Given the description of an element on the screen output the (x, y) to click on. 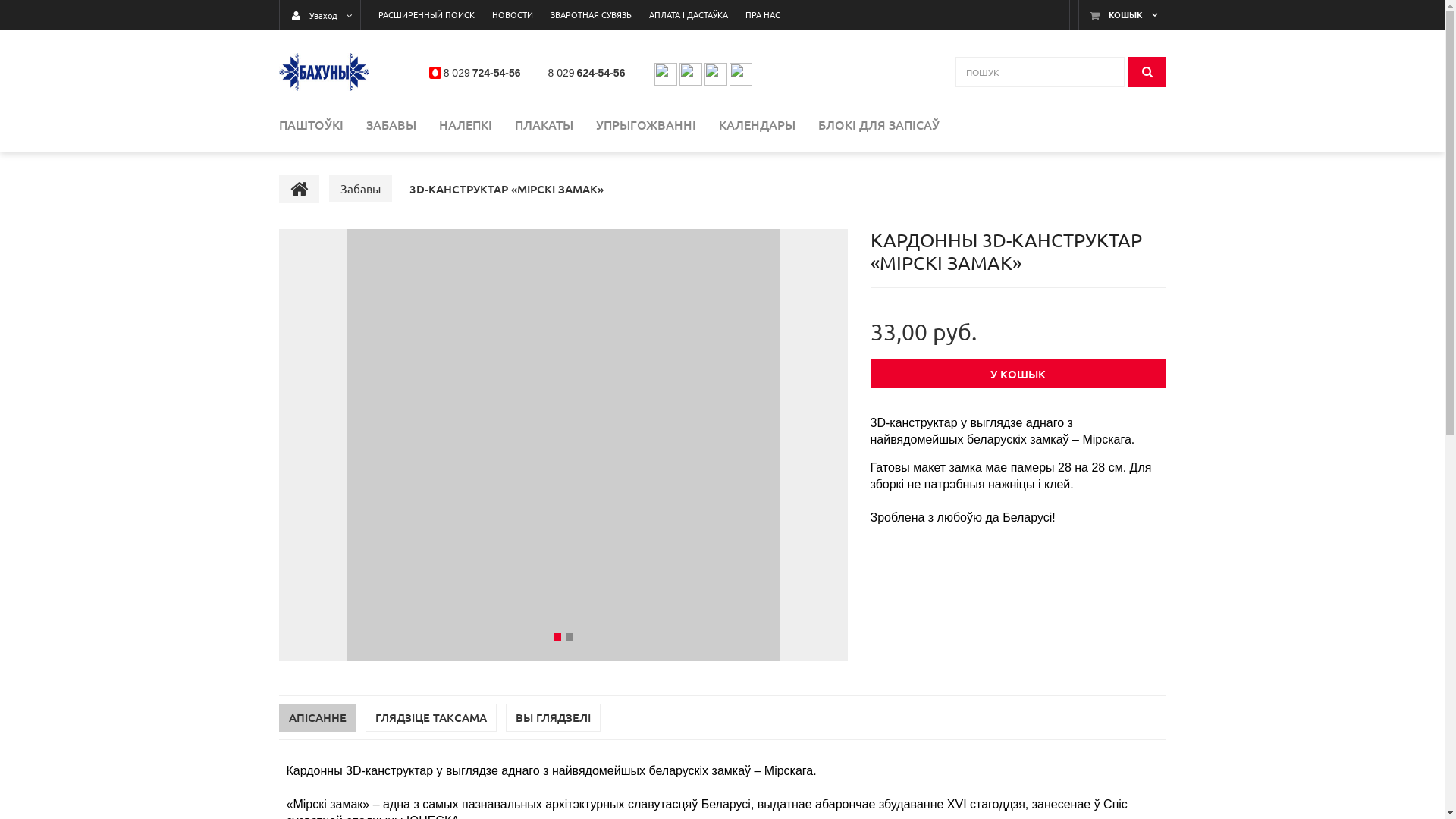
0 Element type: text (569, 636)
0 Element type: text (557, 636)
